Given the description of an element on the screen output the (x, y) to click on. 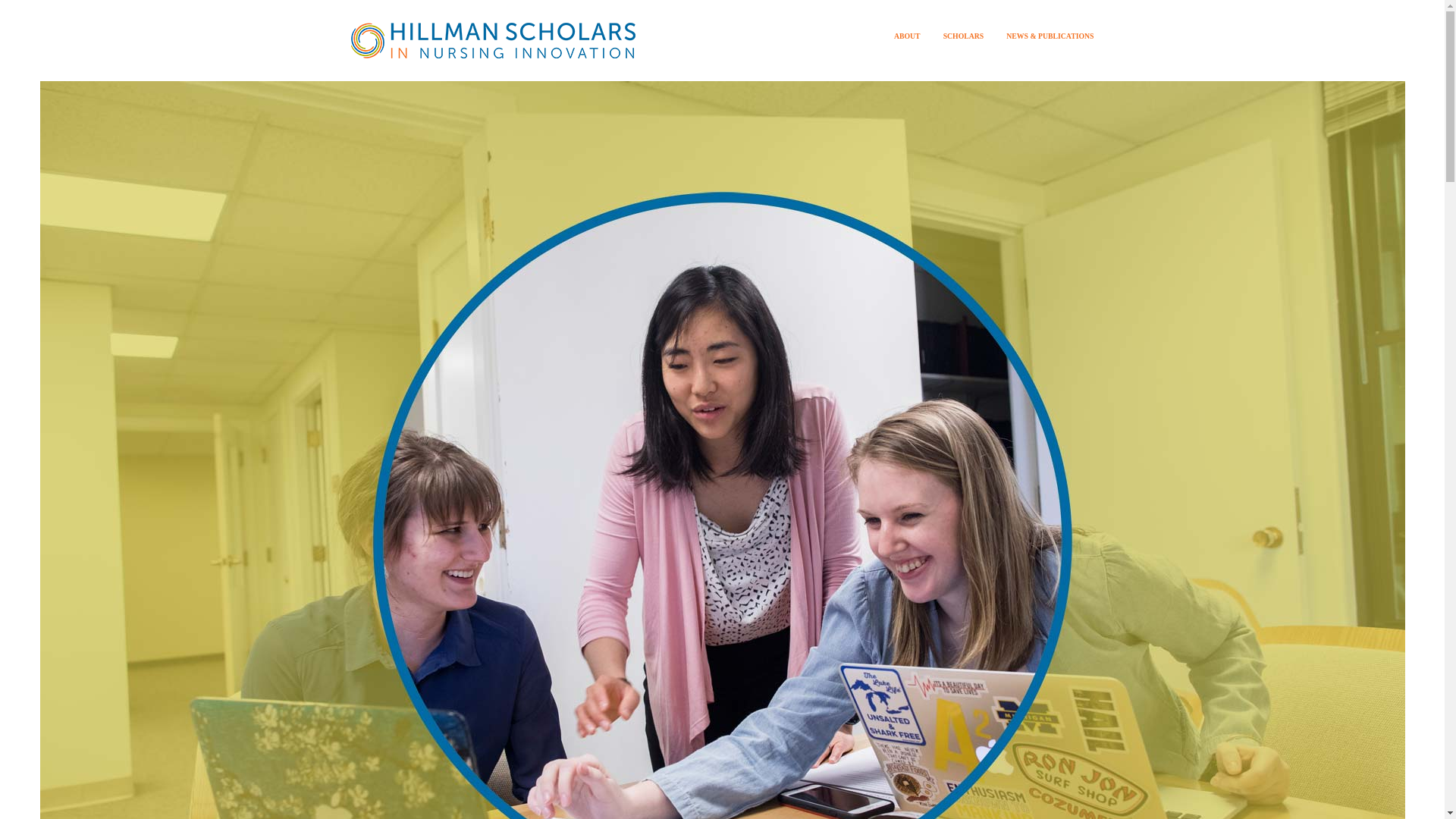
ABOUT (906, 35)
SCHOLARS (963, 35)
